Given the description of an element on the screen output the (x, y) to click on. 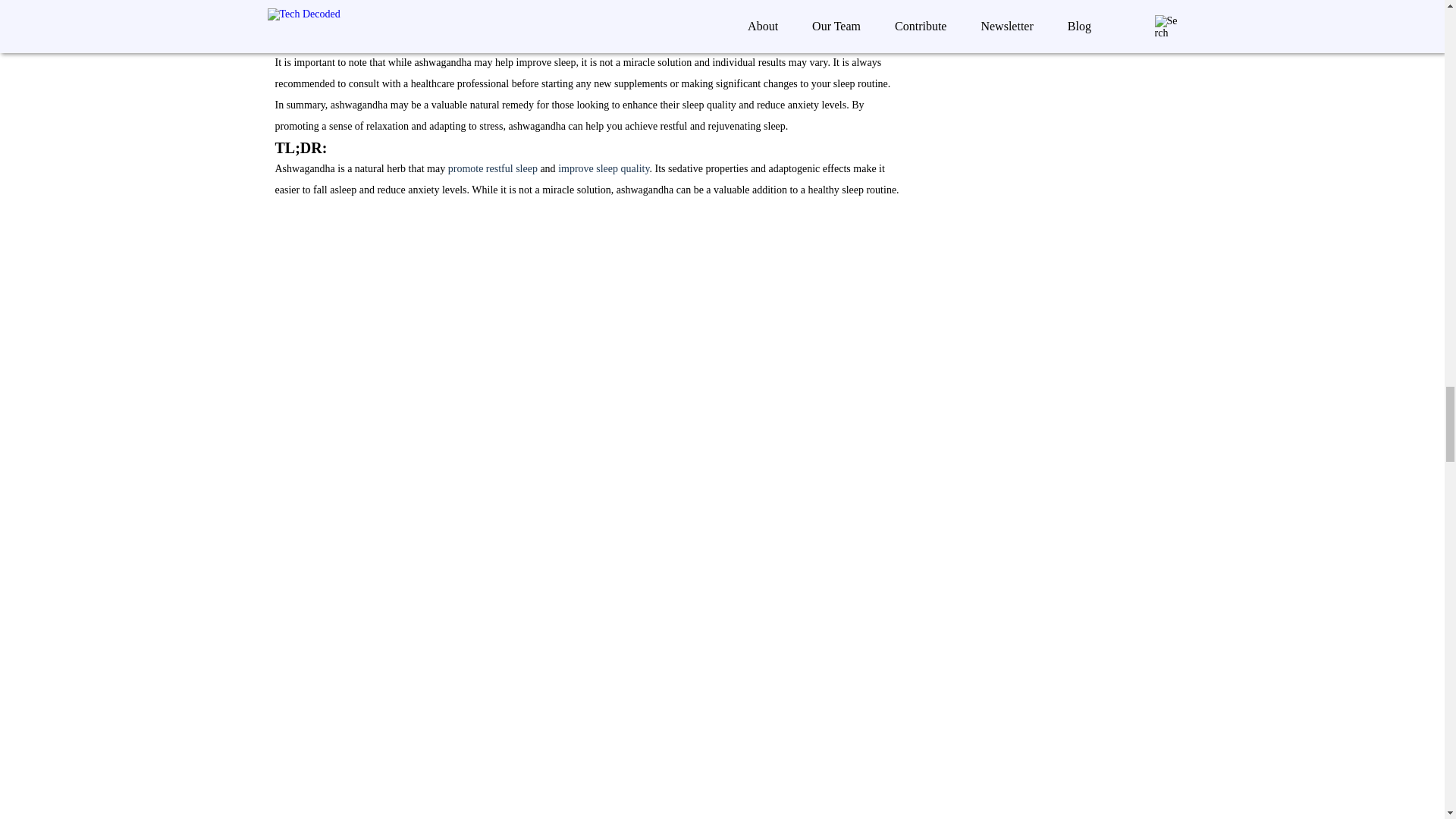
ashwagandha (361, 19)
improve sleep quality (603, 168)
promote restful sleep (492, 168)
